Given the description of an element on the screen output the (x, y) to click on. 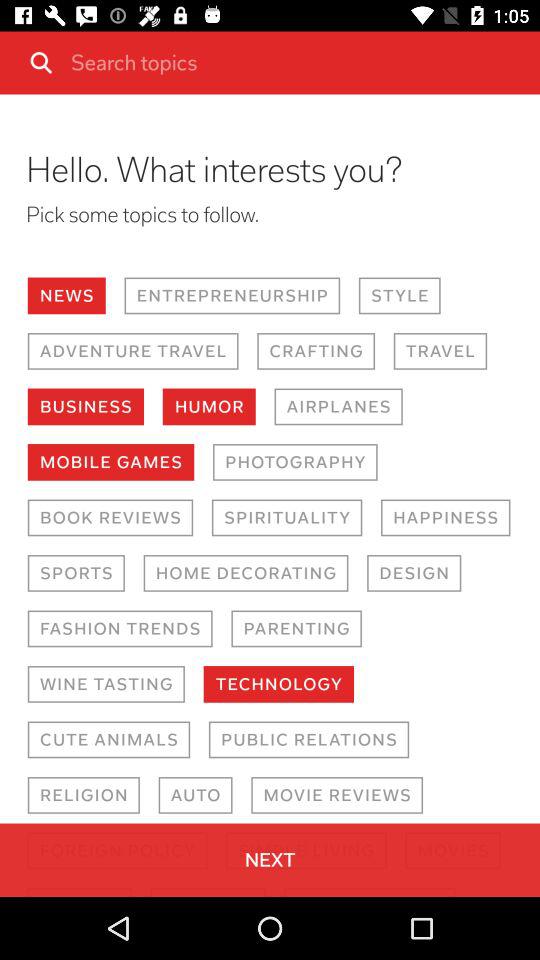
turn on the item below cute animals (195, 794)
